Given the description of an element on the screen output the (x, y) to click on. 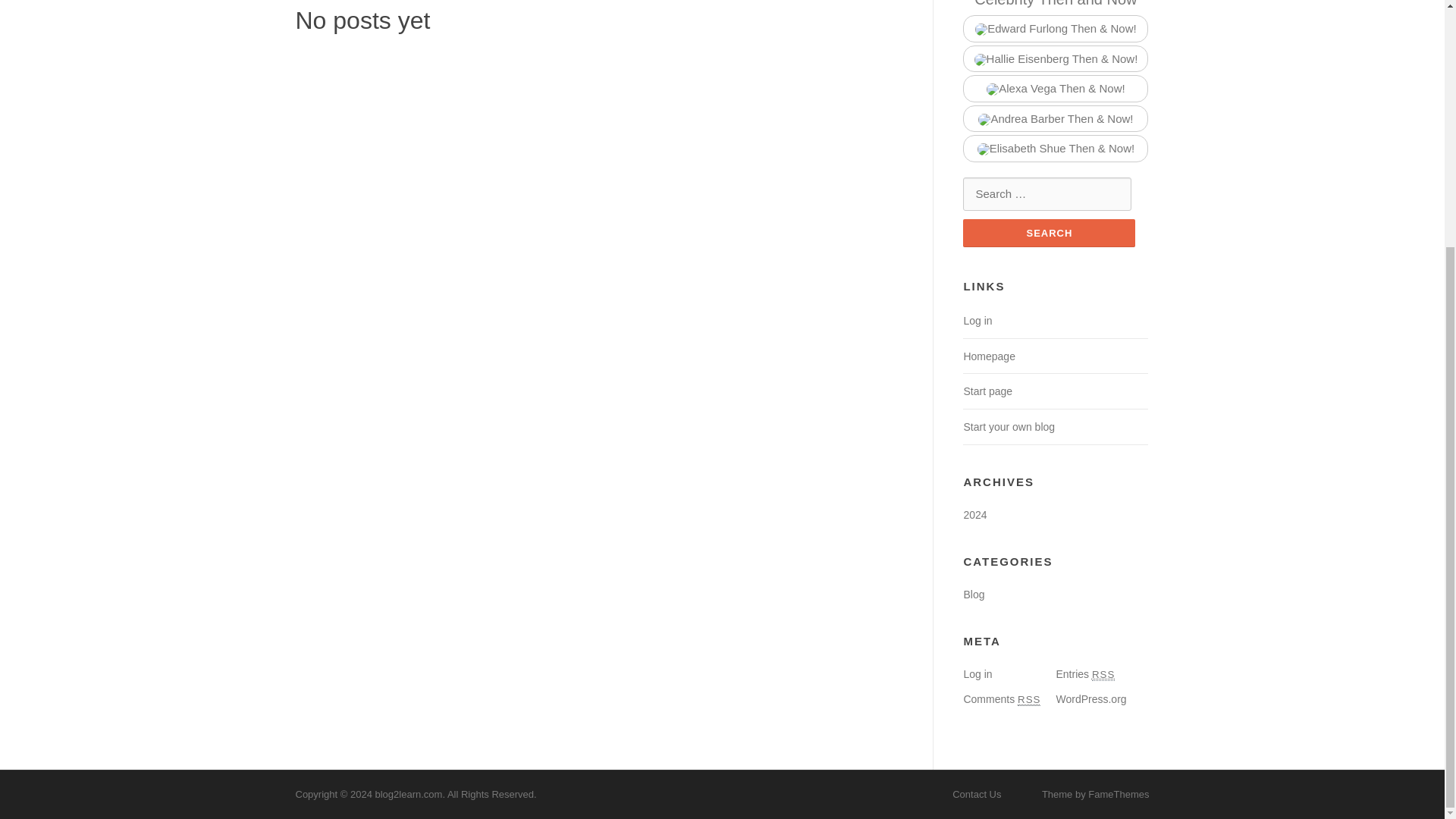
Really Simple Syndication (1029, 699)
Homepage (988, 356)
Search (1048, 233)
Really Simple Syndication (1103, 674)
Start your own blog (1008, 426)
2024 (974, 514)
Search (1048, 233)
Log in (976, 674)
blog2learn.com (408, 794)
